Given the description of an element on the screen output the (x, y) to click on. 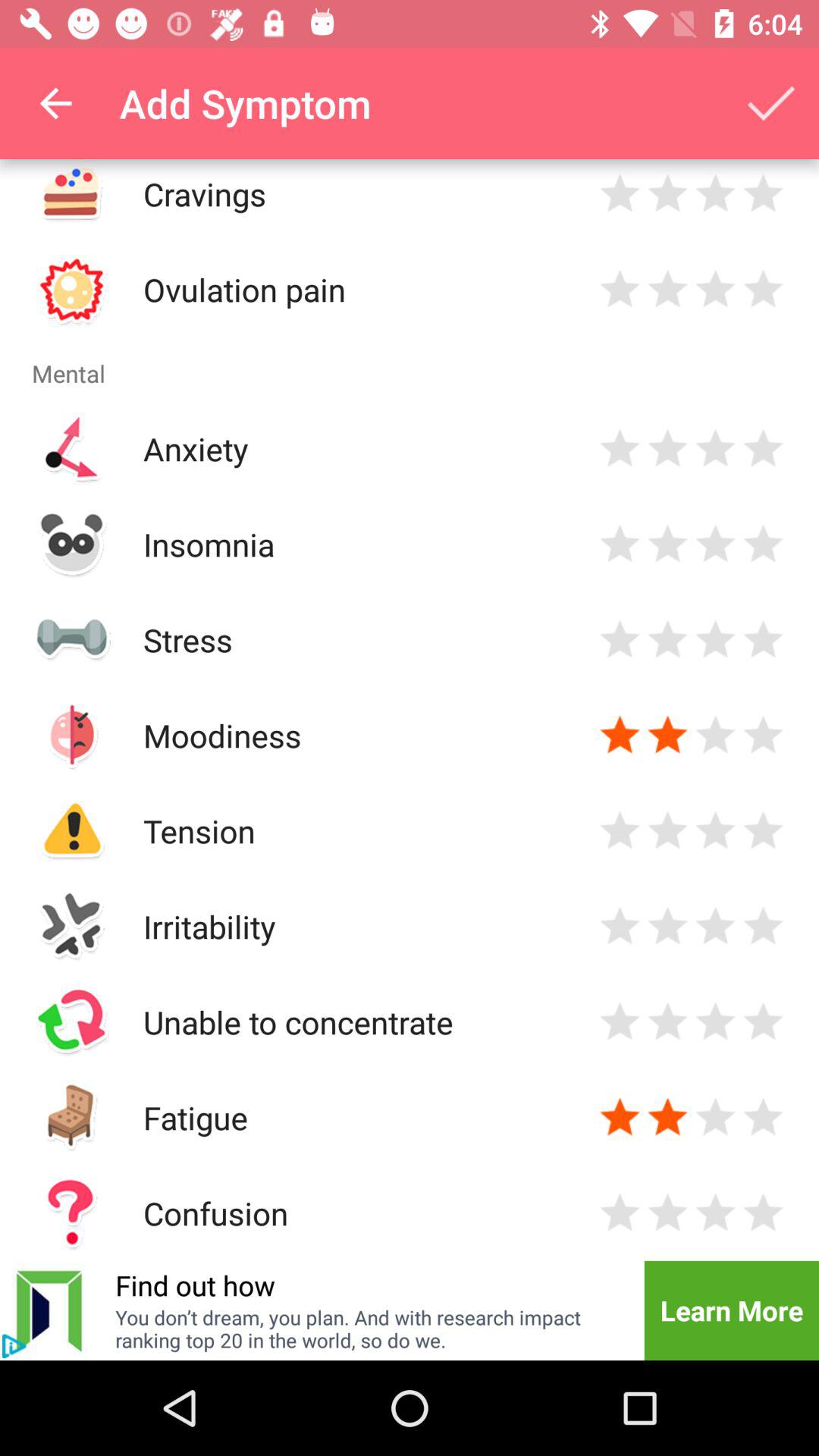
rate the anxiety option (619, 448)
